Given the description of an element on the screen output the (x, y) to click on. 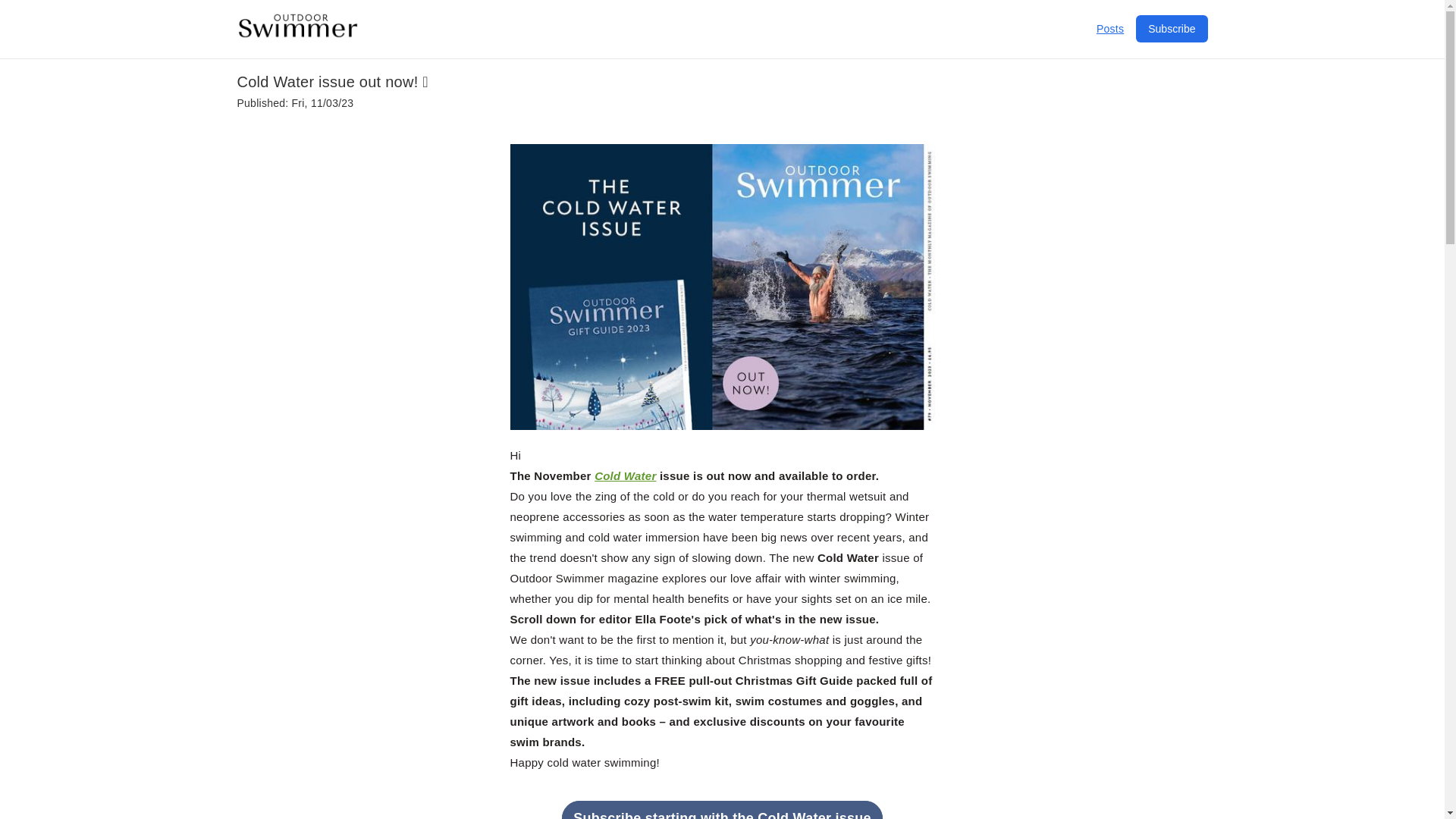
Outdoor Swimmer (296, 33)
Posts (1110, 28)
Subscribe (1171, 28)
Cold Water (625, 475)
Subscribe starting with the Cold Water issue (722, 809)
